Given the description of an element on the screen output the (x, y) to click on. 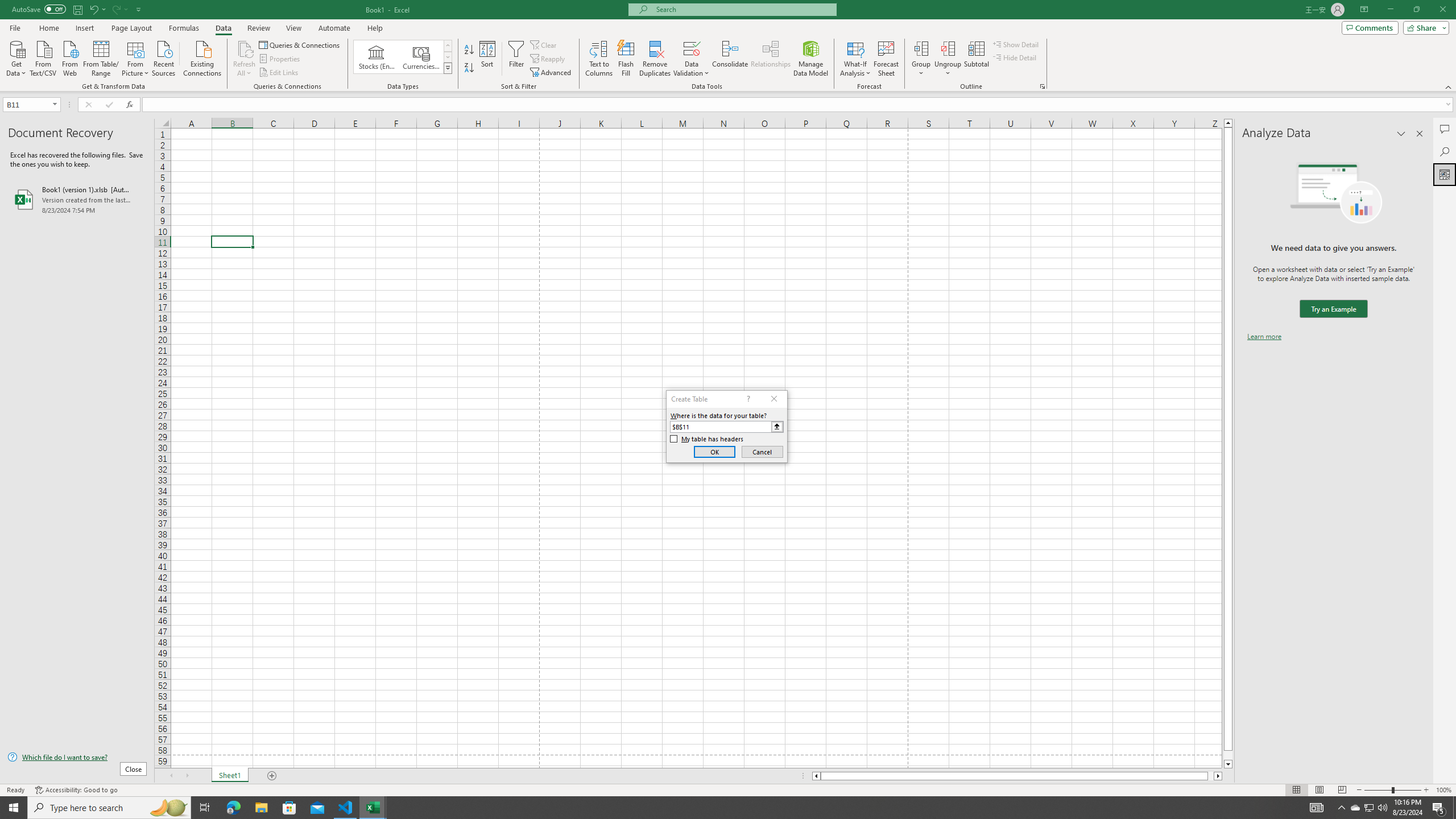
Refresh All (244, 58)
Zoom In (1426, 790)
Row up (448, 45)
Home (48, 28)
Sort Z to A (469, 67)
Sheet1 (229, 775)
Refresh All (244, 48)
Ungroup... (947, 48)
Task Pane Options (1400, 133)
Line up (1228, 122)
Reapply (548, 58)
Normal (1296, 790)
